Given the description of an element on the screen output the (x, y) to click on. 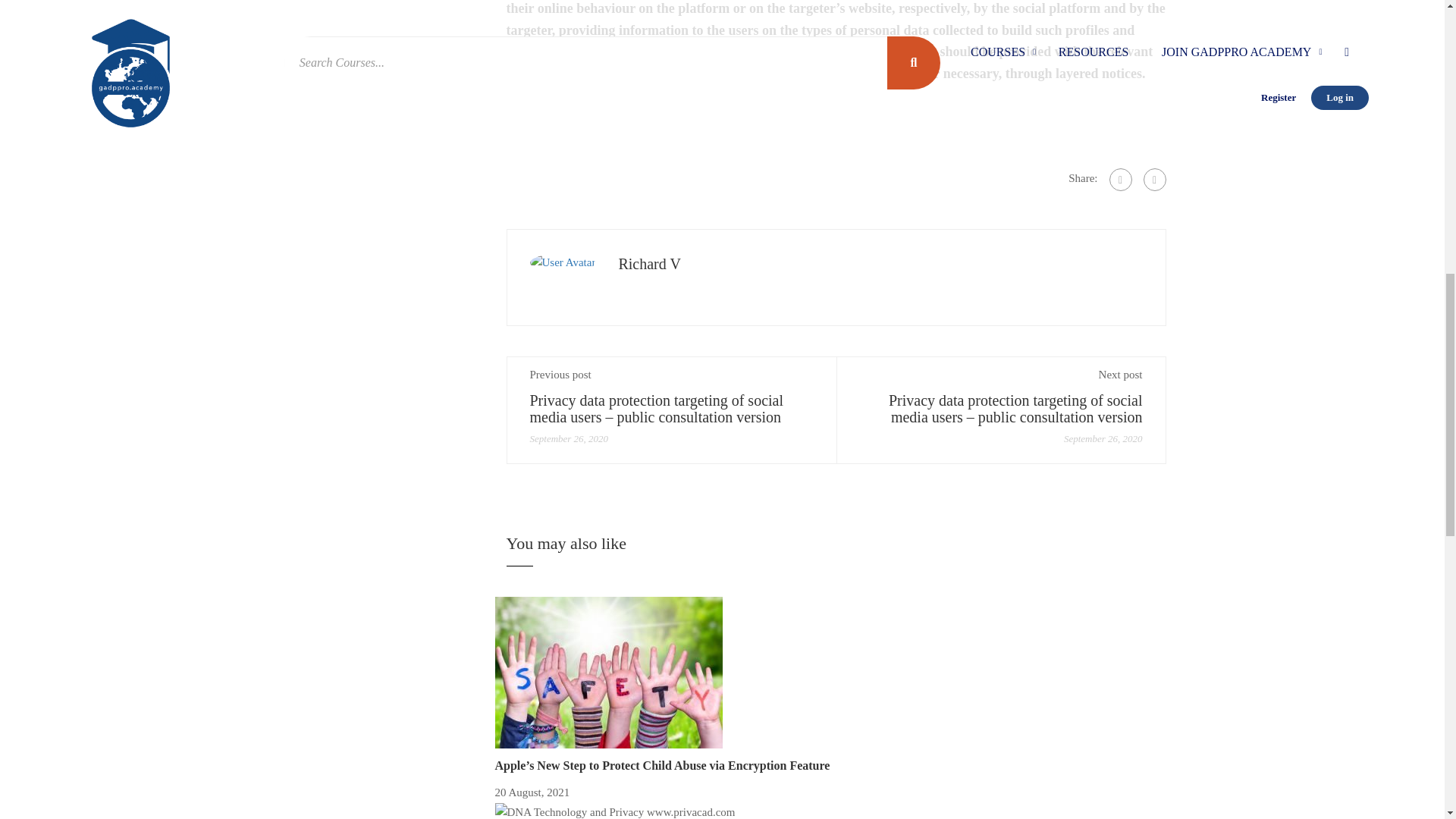
Children Safety Encryption www.privacad.com (608, 672)
Facebook (1119, 179)
DNA Technology and Privacy www.privacad.com (615, 811)
